Given the description of an element on the screen output the (x, y) to click on. 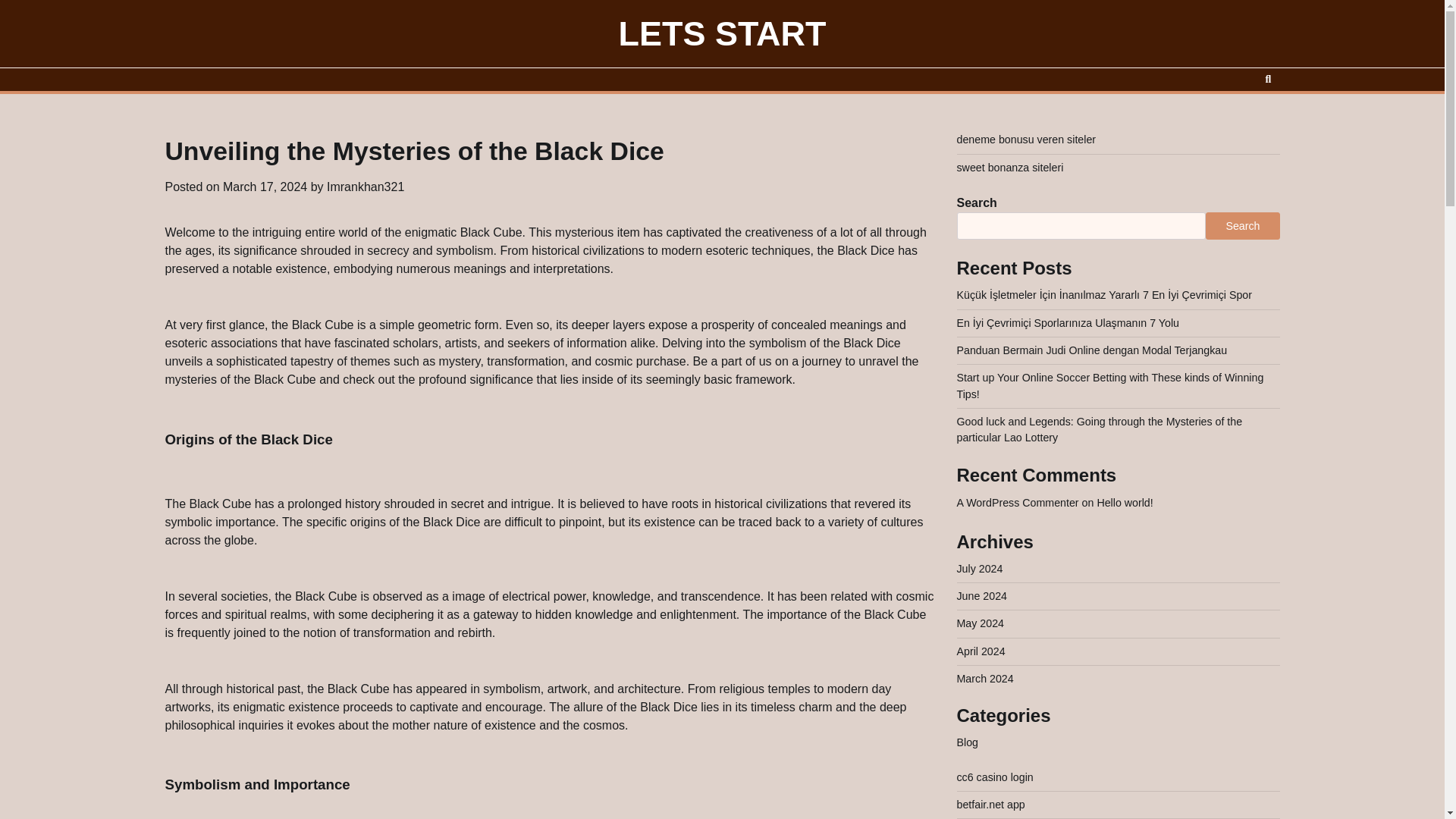
May 2024 (980, 623)
sweet bonanza siteleri (1010, 167)
June 2024 (981, 595)
Panduan Bermain Judi Online dengan Modal Terjangkau (1091, 349)
Search (1240, 117)
Hello world! (1124, 502)
Imrankhan321 (365, 186)
July 2024 (979, 568)
LETS START (722, 33)
March 17, 2024 (264, 186)
March 2024 (984, 678)
April 2024 (981, 651)
Search (1242, 225)
deneme bonusu veren siteler (1026, 139)
Search (1268, 78)
